Given the description of an element on the screen output the (x, y) to click on. 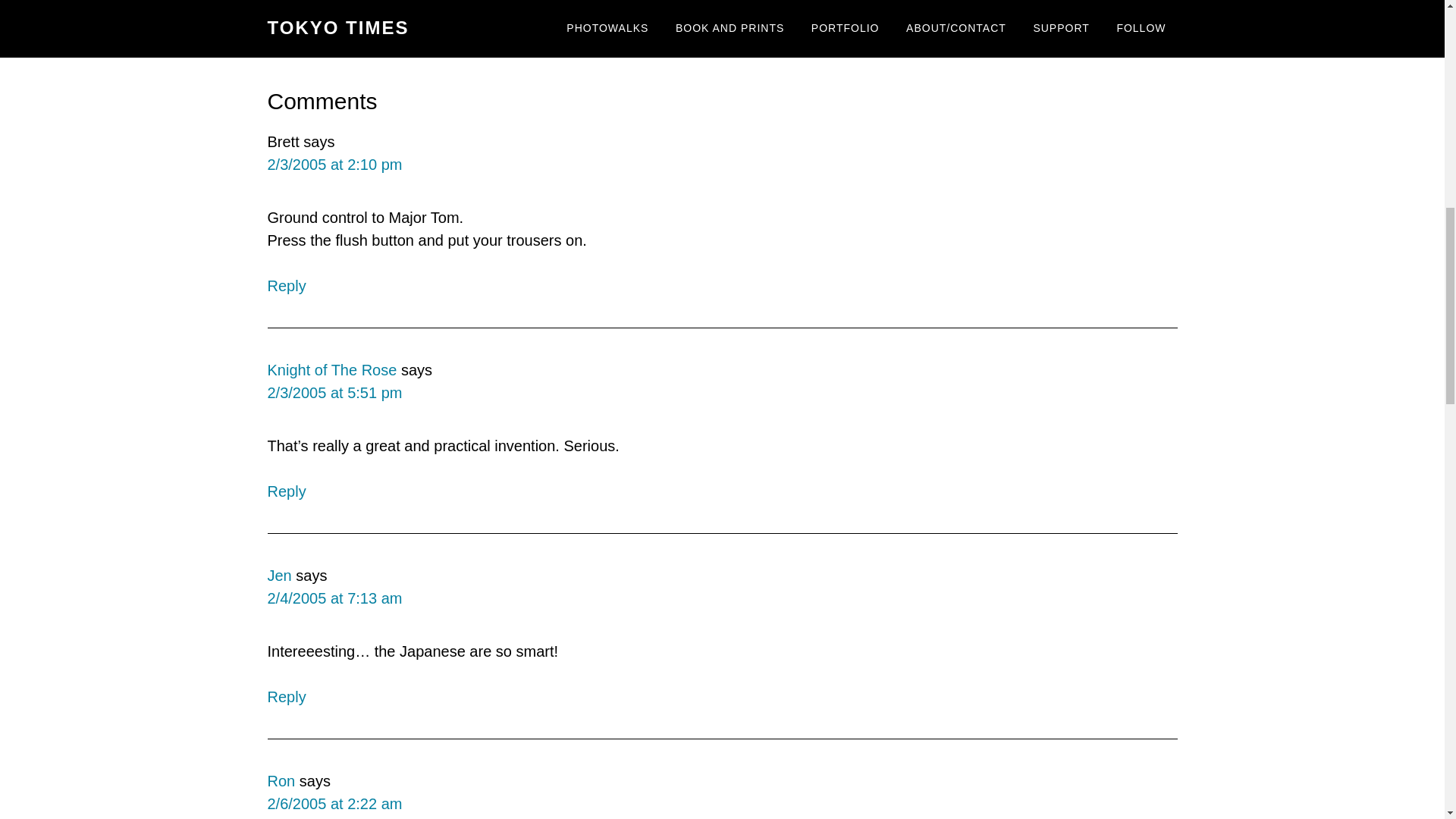
Jen (278, 575)
Knight of The Rose (331, 369)
Reply (285, 491)
Ron (280, 781)
Reply (285, 285)
Reply (285, 696)
Technology Stuff (767, 4)
